Given the description of an element on the screen output the (x, y) to click on. 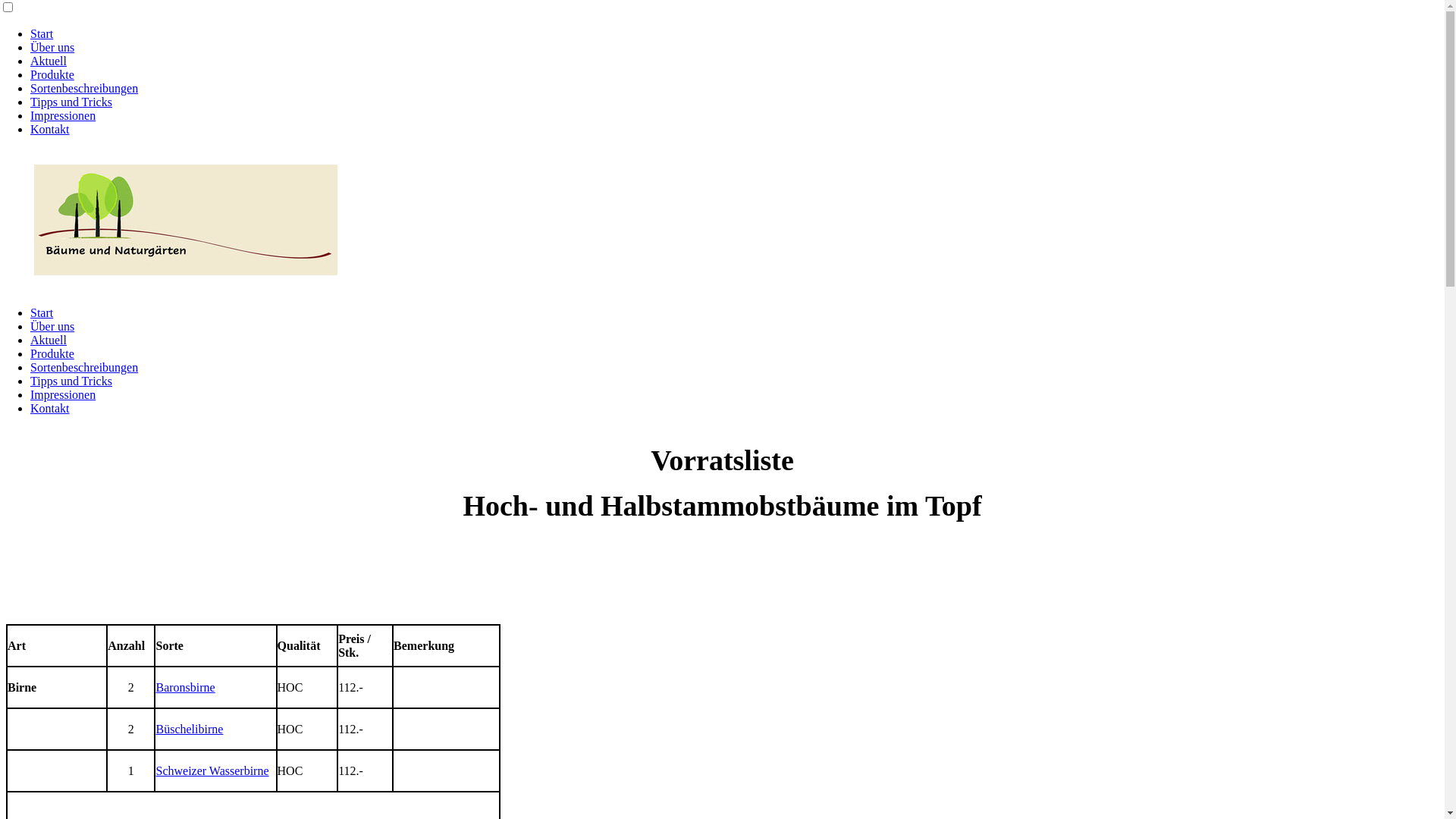
Kontakt Element type: text (49, 407)
Kontakt Element type: text (49, 128)
Tipps und Tricks Element type: text (71, 101)
Sortenbeschreibungen Element type: text (84, 87)
Aktuell Element type: text (48, 339)
Sortenbeschreibungen Element type: text (84, 366)
Impressionen Element type: text (62, 394)
Impressionen Element type: text (62, 115)
Aktuell Element type: text (48, 60)
Start Element type: text (41, 33)
Produkte Element type: text (52, 353)
Produkte Element type: text (52, 74)
Schweizer Wasserbirne Element type: text (211, 770)
Start Element type: text (41, 312)
Baronsbirne Element type: text (184, 686)
Tipps und Tricks Element type: text (71, 380)
